Given the description of an element on the screen output the (x, y) to click on. 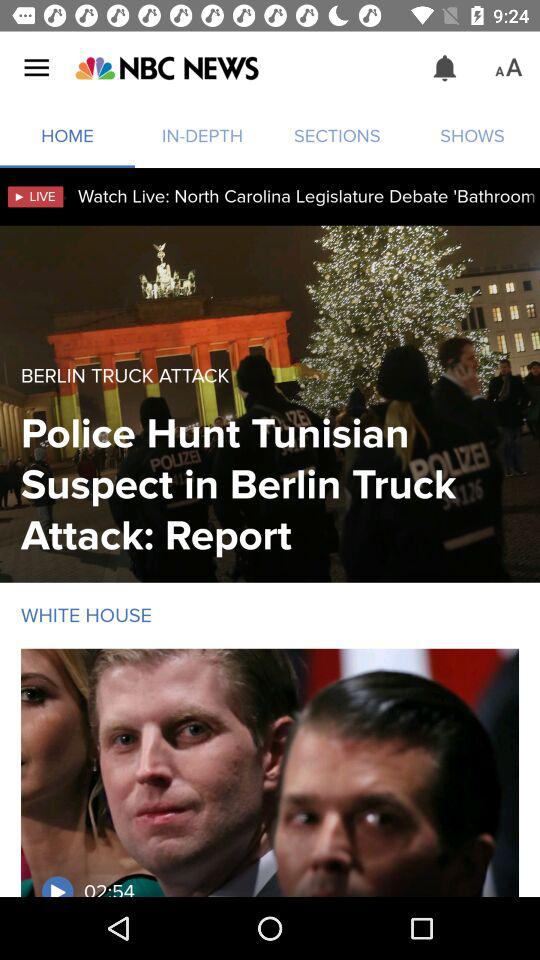
click on the bell icon (445, 68)
